Given the description of an element on the screen output the (x, y) to click on. 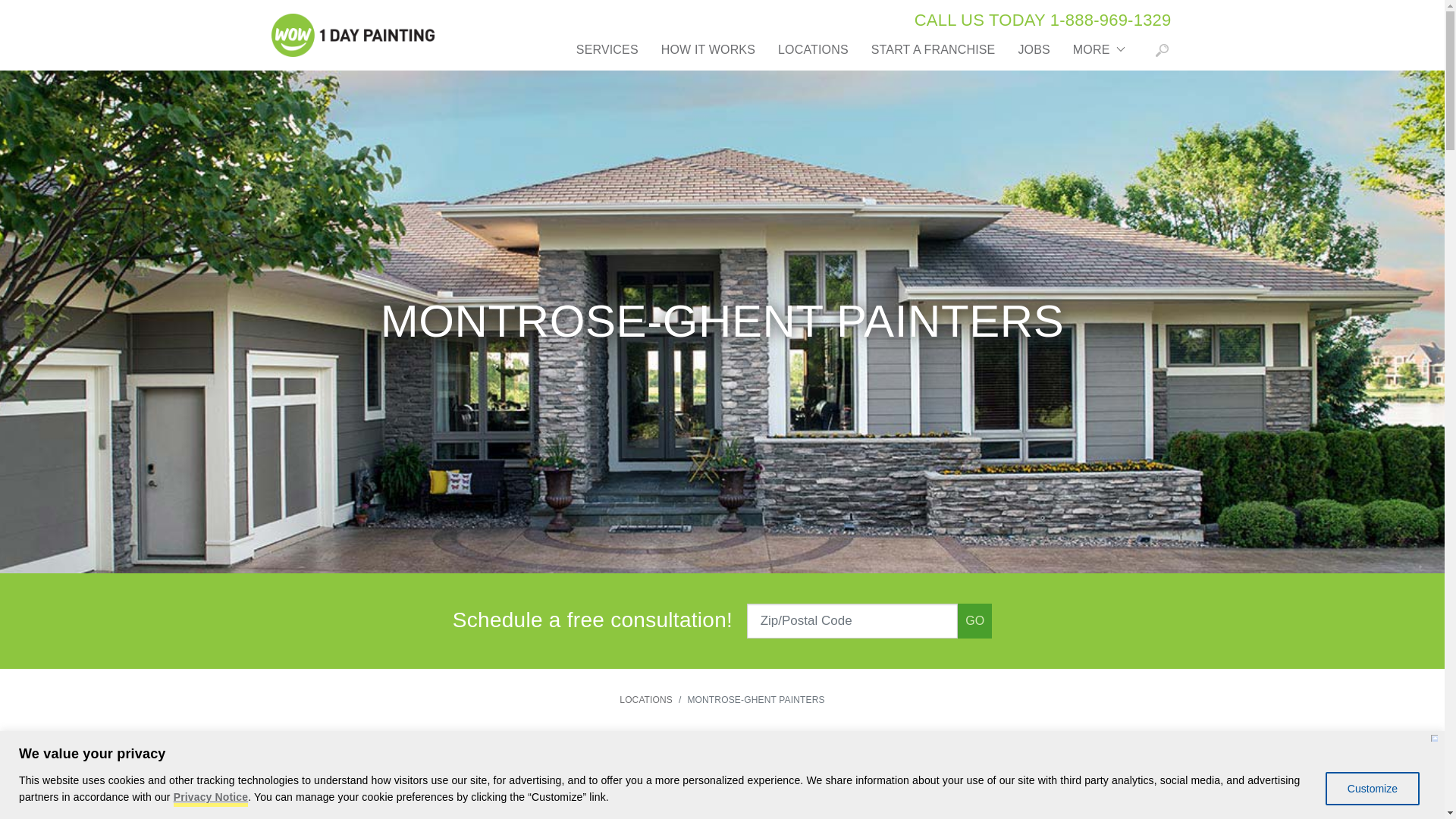
LOCATIONS (646, 699)
GO (974, 620)
HOW IT WORKS (708, 55)
Image (356, 28)
JOBS (1033, 55)
Search (1162, 53)
Customize (1371, 788)
Privacy Notice (210, 798)
LOCATIONS (813, 55)
Home (349, 34)
START A FRANCHISE (933, 55)
SERVICES (606, 55)
